Given the description of an element on the screen output the (x, y) to click on. 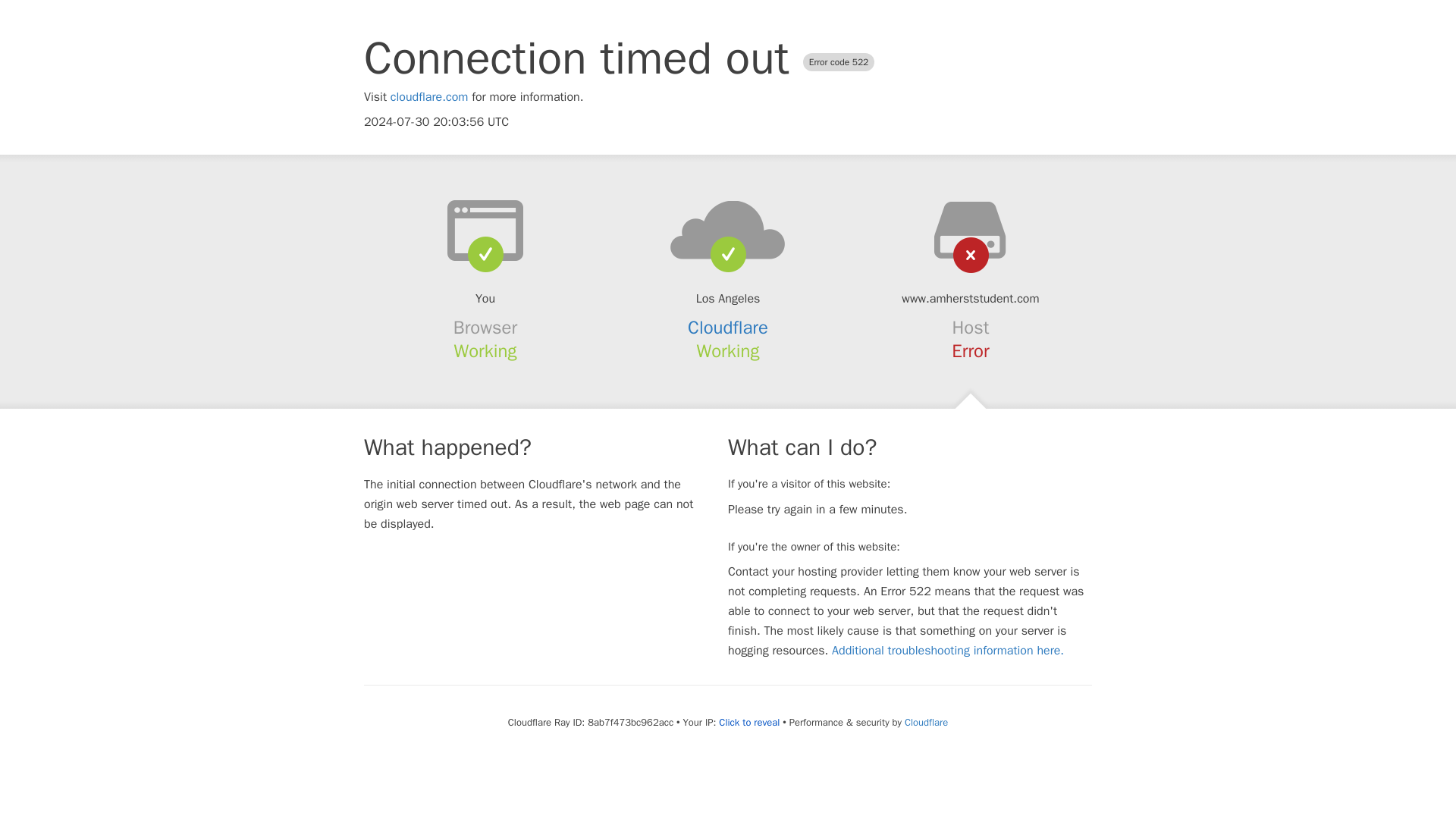
Cloudflare (925, 721)
cloudflare.com (429, 96)
Additional troubleshooting information here. (947, 650)
Click to reveal (748, 722)
Cloudflare (727, 327)
